Given the description of an element on the screen output the (x, y) to click on. 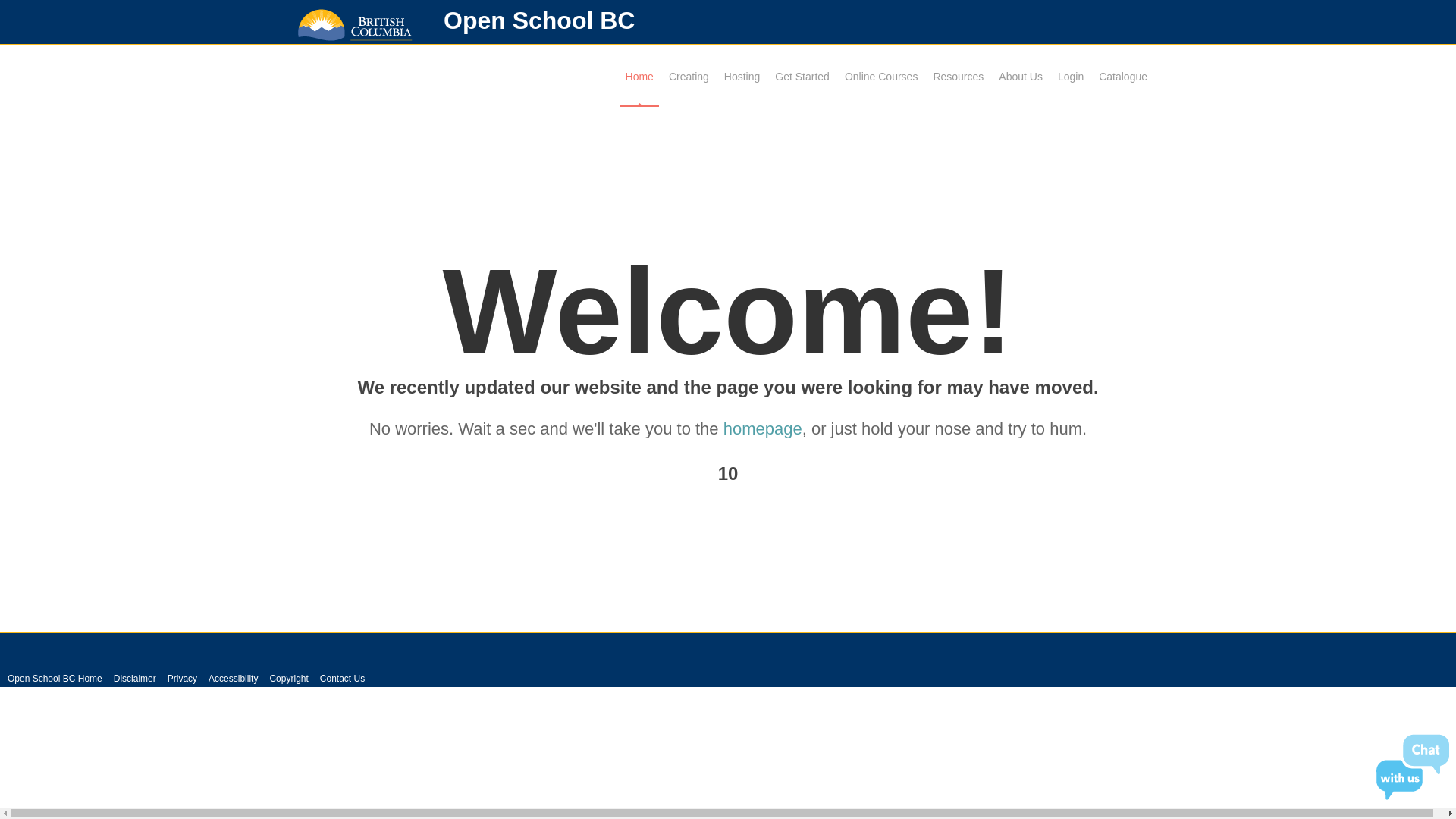
Resources Element type: text (957, 76)
Online Courses Element type: text (881, 76)
About Us Element type: text (1020, 76)
Contact Us Element type: text (342, 679)
Hosting Element type: text (741, 76)
homepage Element type: text (762, 428)
Copyright Element type: text (288, 679)
Login Element type: text (1070, 76)
Privacy Element type: text (182, 679)
Home Element type: text (639, 76)
Creating Element type: text (688, 76)
Open School BC Home Element type: text (54, 679)
Province of British Columbia logo Element type: hover (354, 23)
Get Started Element type: text (801, 76)
Accessibility Element type: text (232, 679)
Disclaimer Element type: text (134, 679)
Catalogue Element type: text (1122, 76)
